Given the description of an element on the screen output the (x, y) to click on. 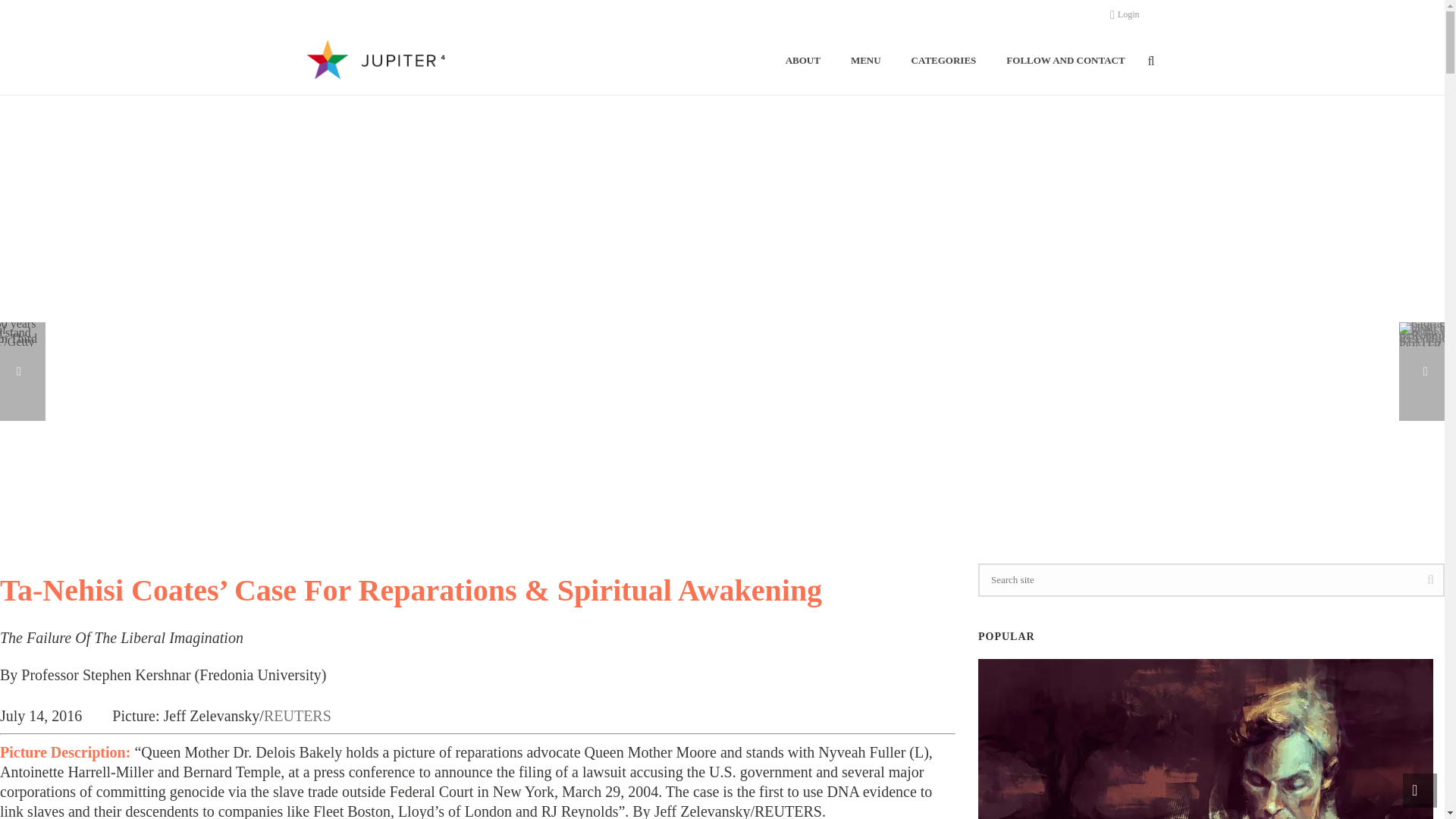
FOLLOW AND CONTACT (1065, 61)
ABOUT (802, 61)
MENU (865, 61)
CATEGORIES (943, 61)
REUTERS (297, 715)
Login (1124, 14)
